Given the description of an element on the screen output the (x, y) to click on. 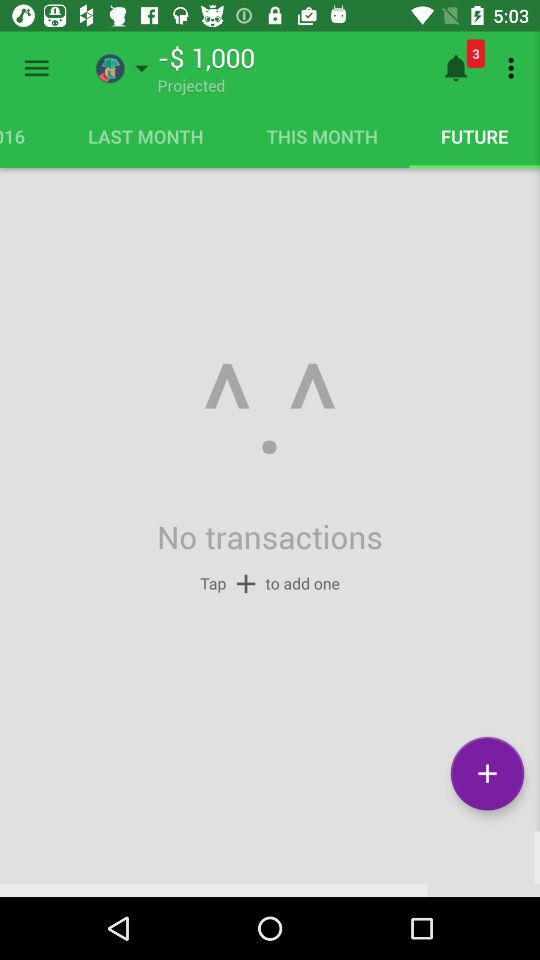
click item next to 3 (513, 67)
